Given the description of an element on the screen output the (x, y) to click on. 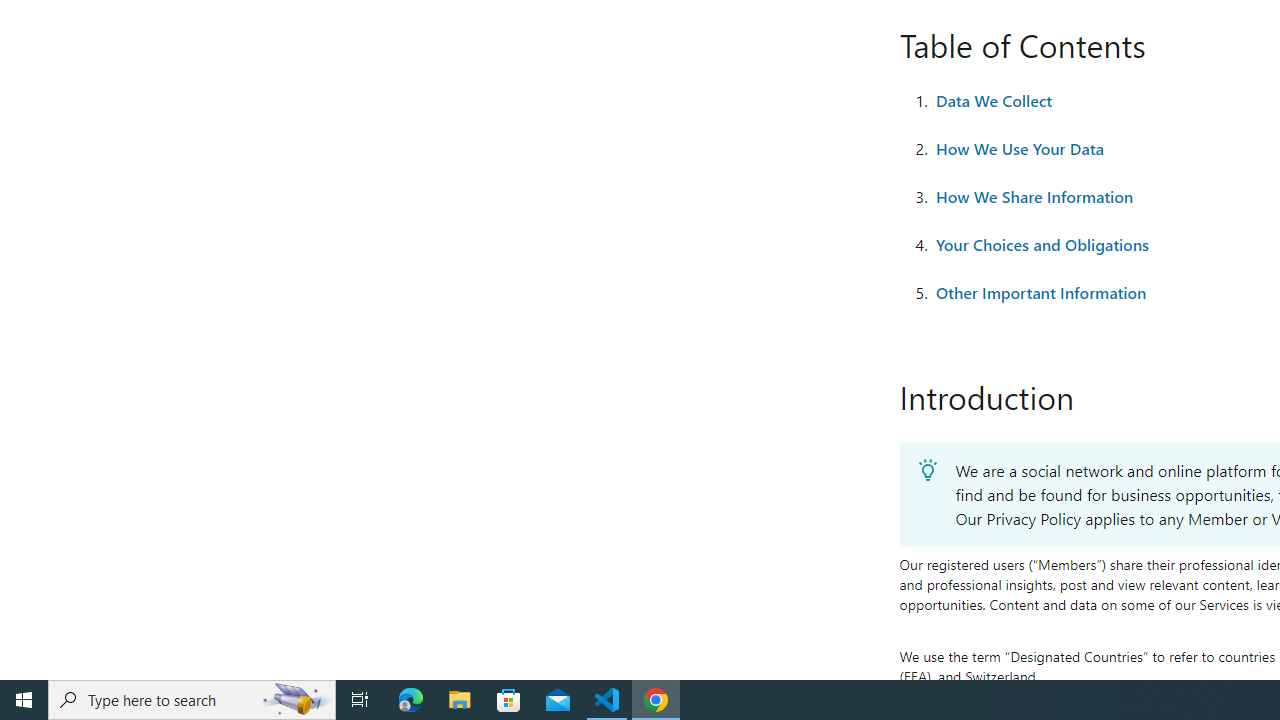
How We Share Information (1034, 196)
Data We Collect (993, 101)
Other Important Information (1040, 292)
How We Use Your Data (1019, 148)
Your Choices and Obligations (1042, 245)
